Given the description of an element on the screen output the (x, y) to click on. 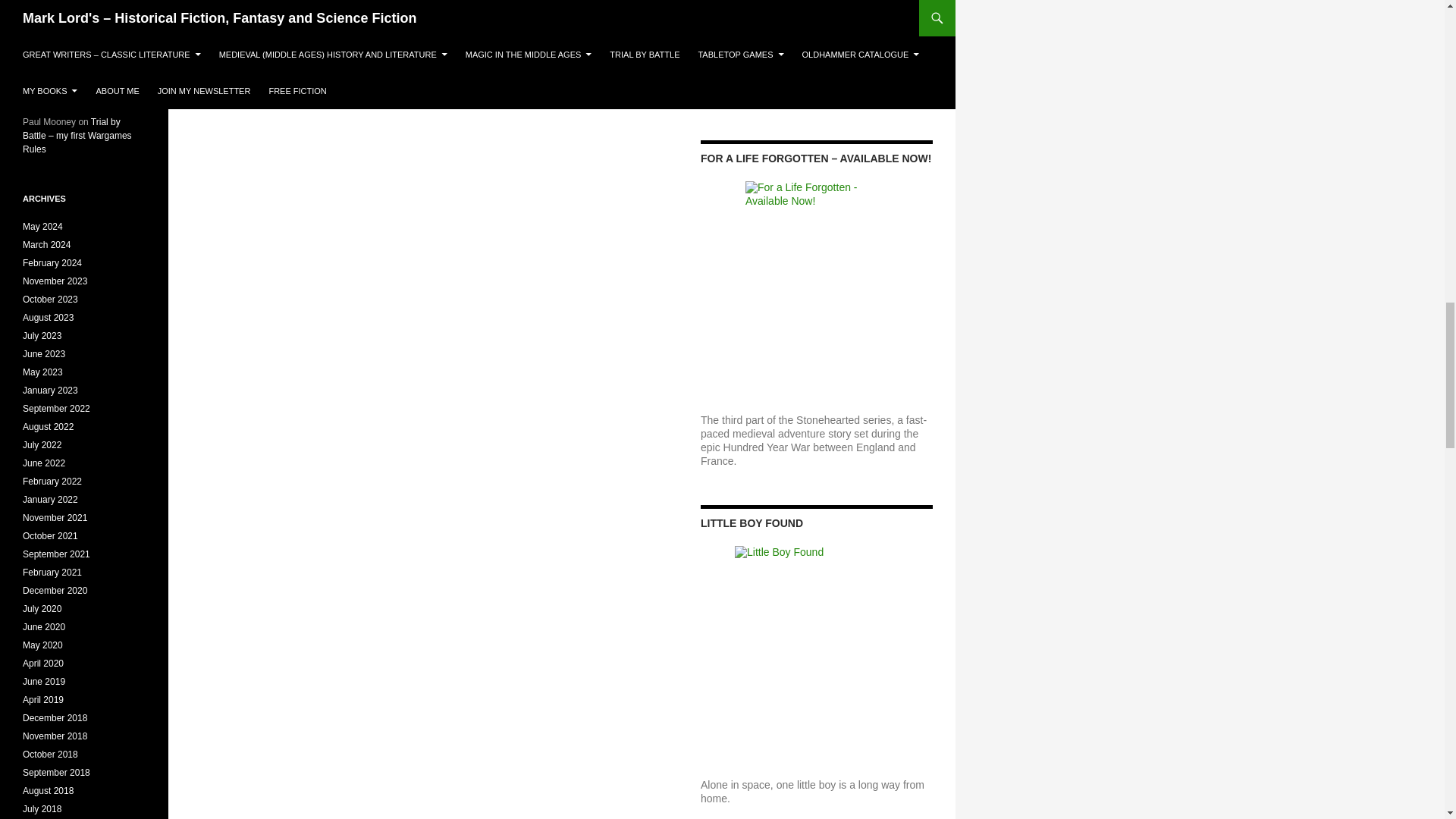
The Return of the Free (816, 35)
Little Boy Found (816, 659)
